Given the description of an element on the screen output the (x, y) to click on. 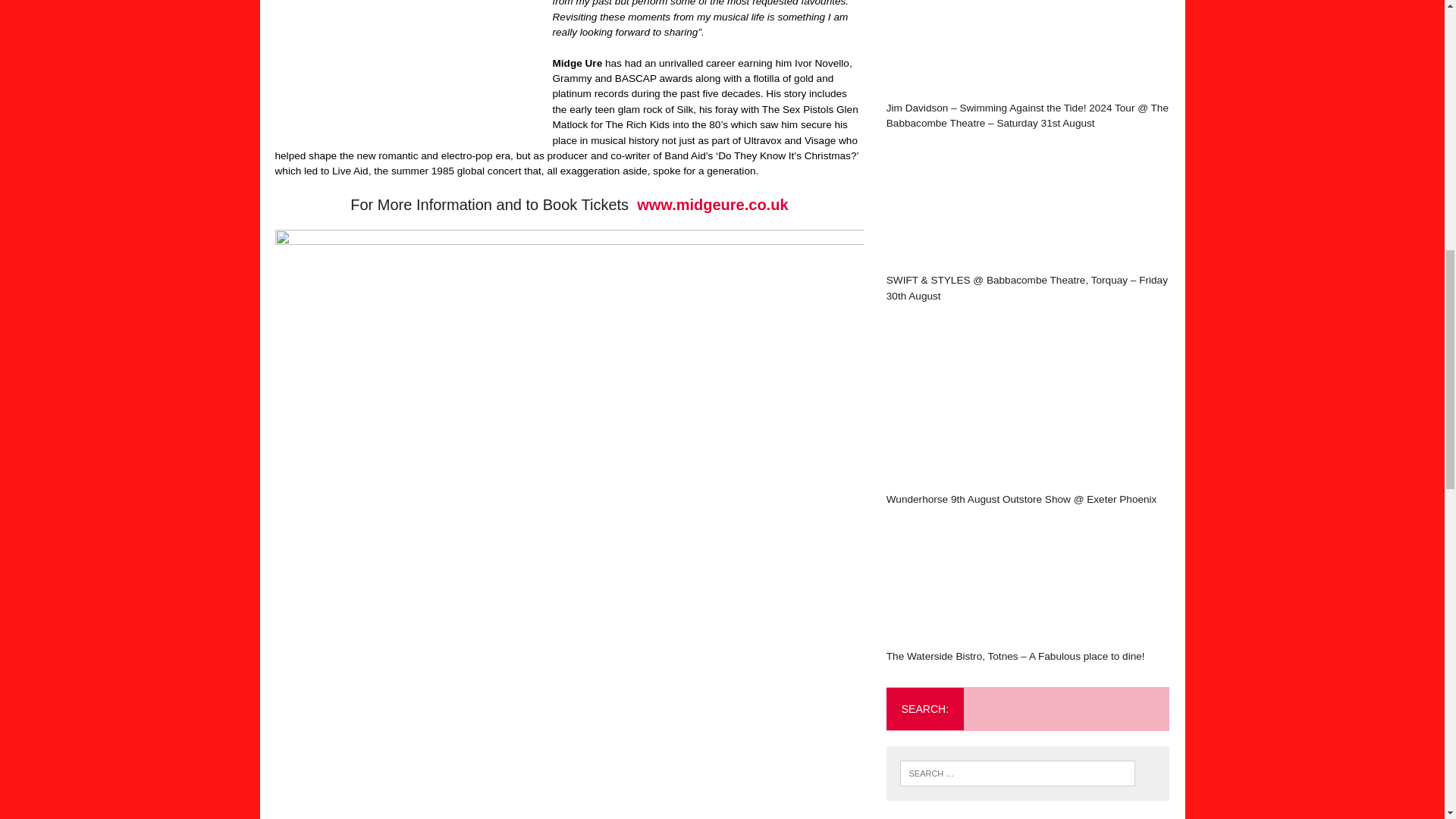
www.midgeure.co.uk (712, 204)
